Given the description of an element on the screen output the (x, y) to click on. 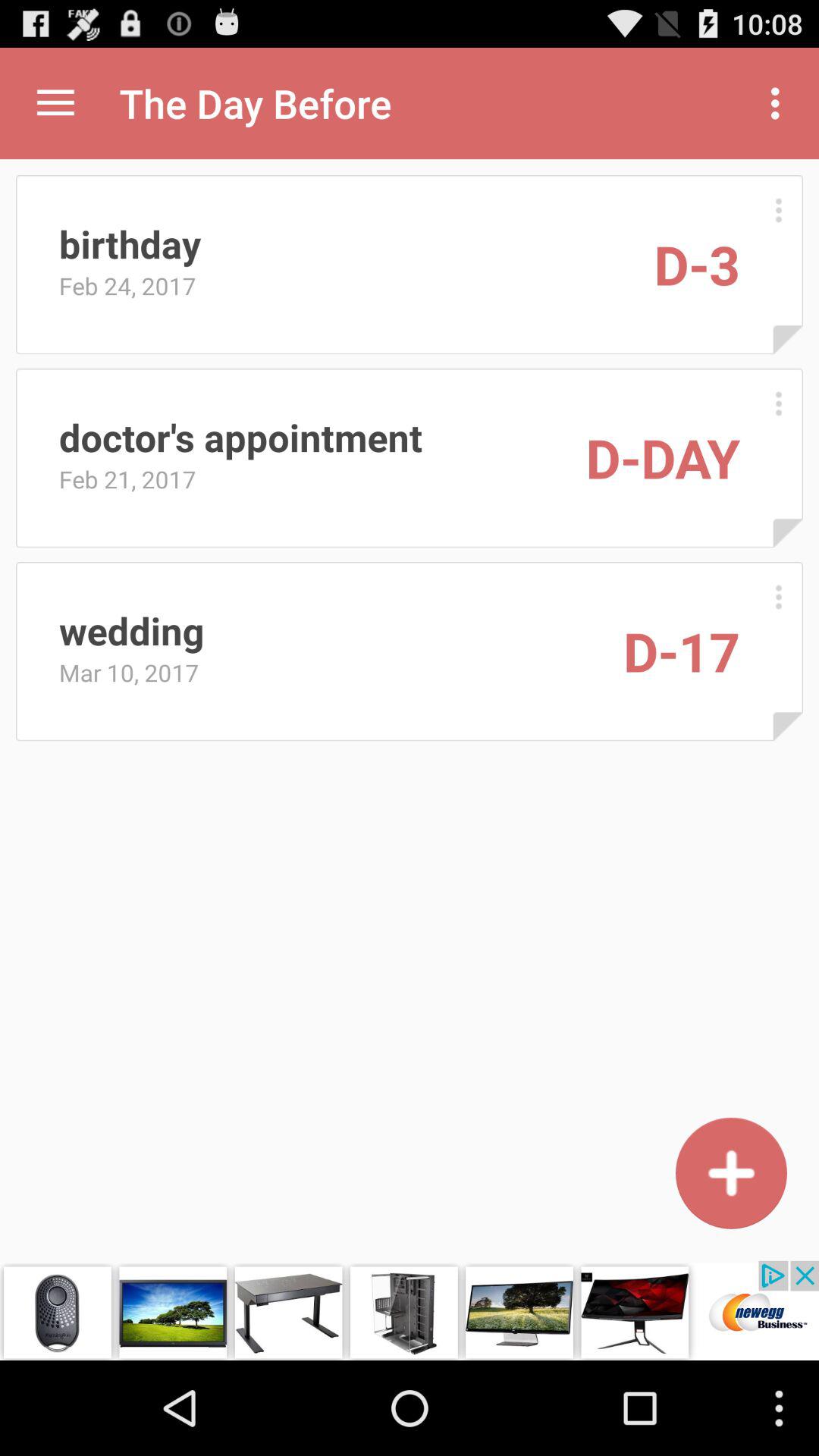
more options (777, 596)
